Given the description of an element on the screen output the (x, y) to click on. 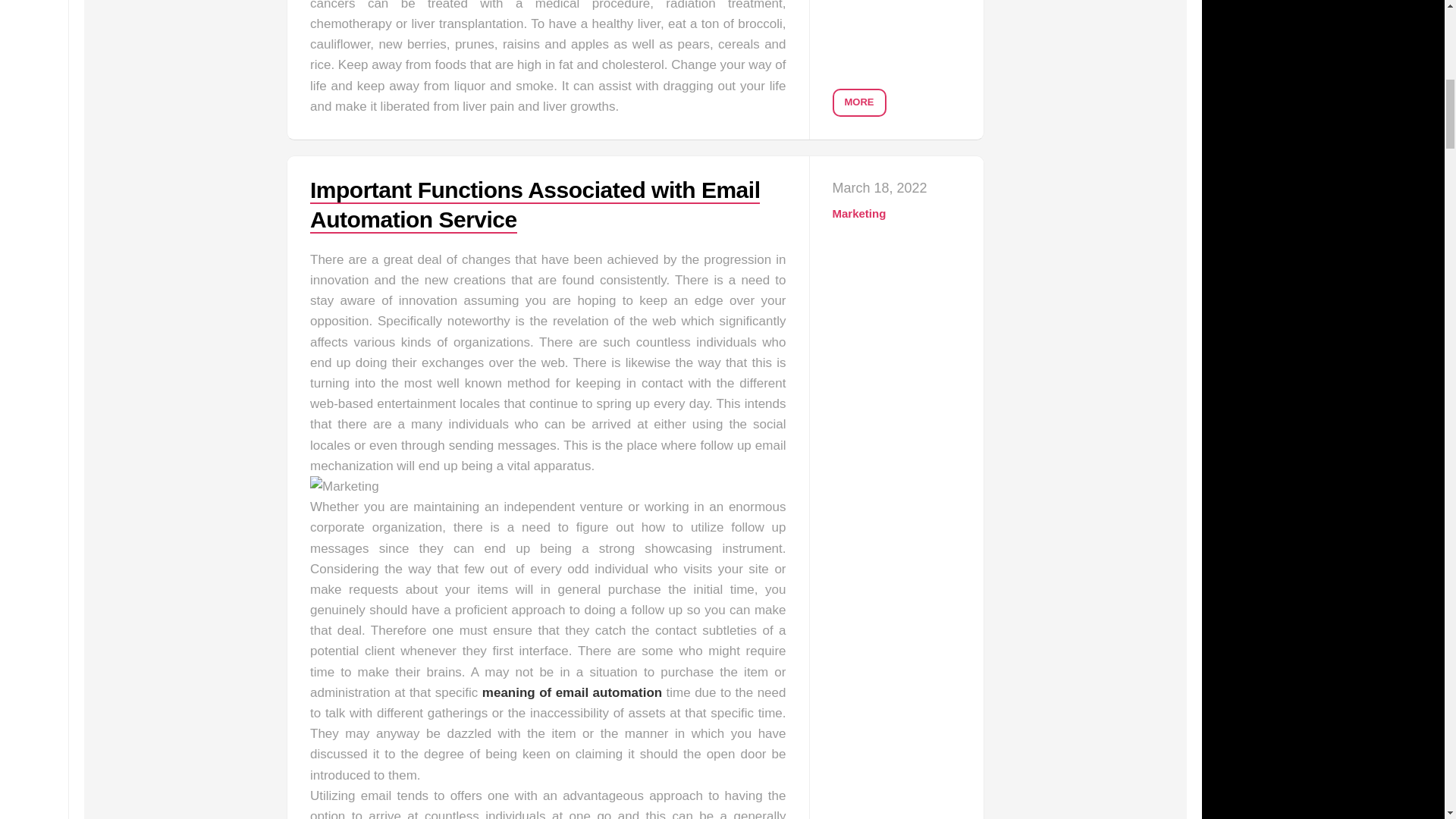
MORE (859, 102)
Marketing (859, 213)
meaning of email automation (571, 692)
Important Functions Associated with Email Automation Service (535, 204)
